Given the description of an element on the screen output the (x, y) to click on. 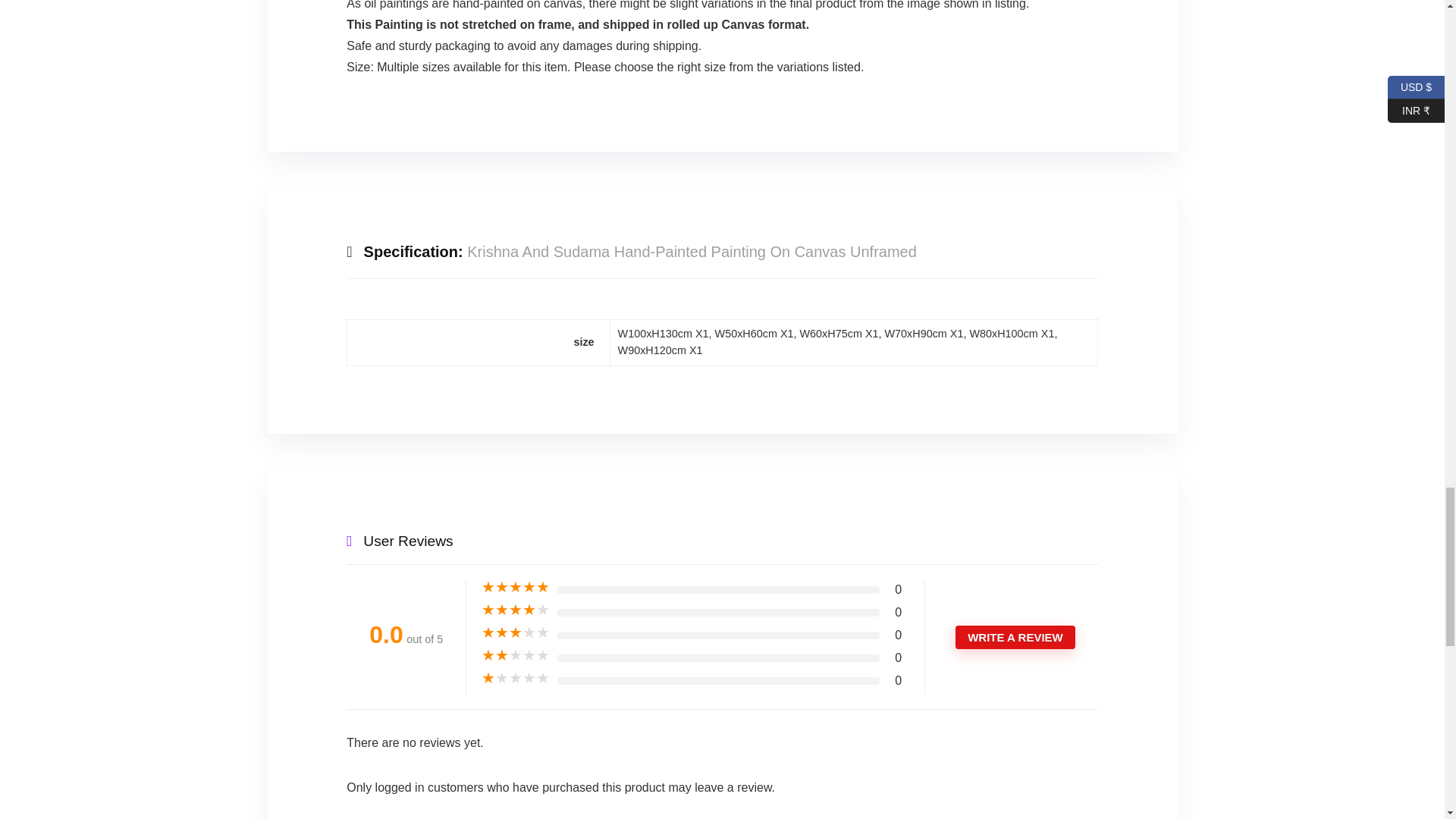
Rated 1 out of 5 (515, 678)
Rated 3 out of 5 (515, 632)
Rated 2 out of 5 (515, 655)
Rated 4 out of 5 (515, 610)
WRITE A REVIEW (1015, 637)
Rated 5 out of 5 (515, 587)
